Given the description of an element on the screen output the (x, y) to click on. 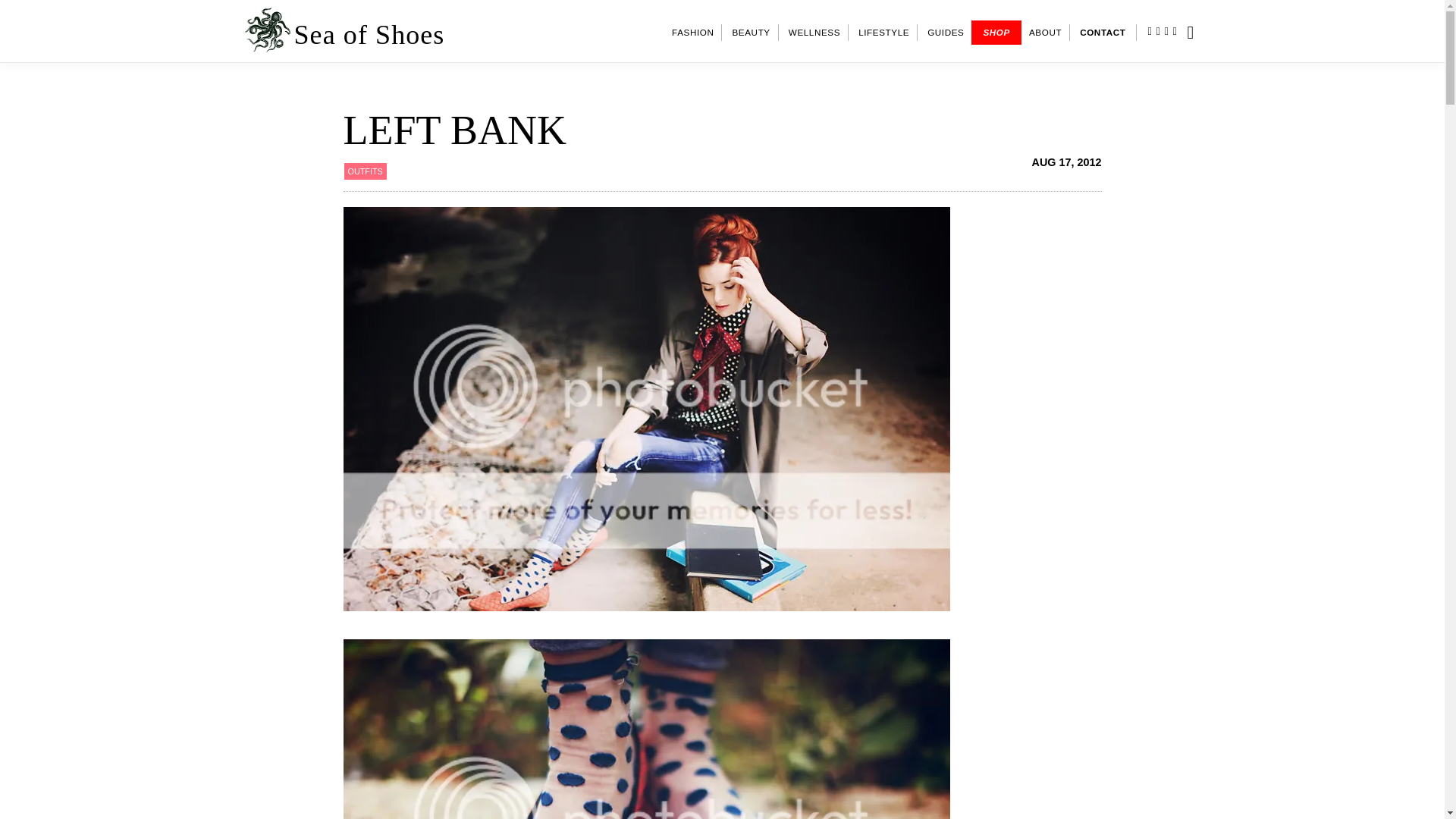
ABOUT (1045, 32)
Sea of Shoes (369, 34)
PINTEREST (1179, 31)
WELLNESS (814, 32)
LIFESTYLE (883, 32)
GUIDES (945, 32)
SHOW SEARCH (1198, 32)
OUTFITS (364, 171)
CONTACT (1102, 32)
FASHION (692, 32)
